Given the description of an element on the screen output the (x, y) to click on. 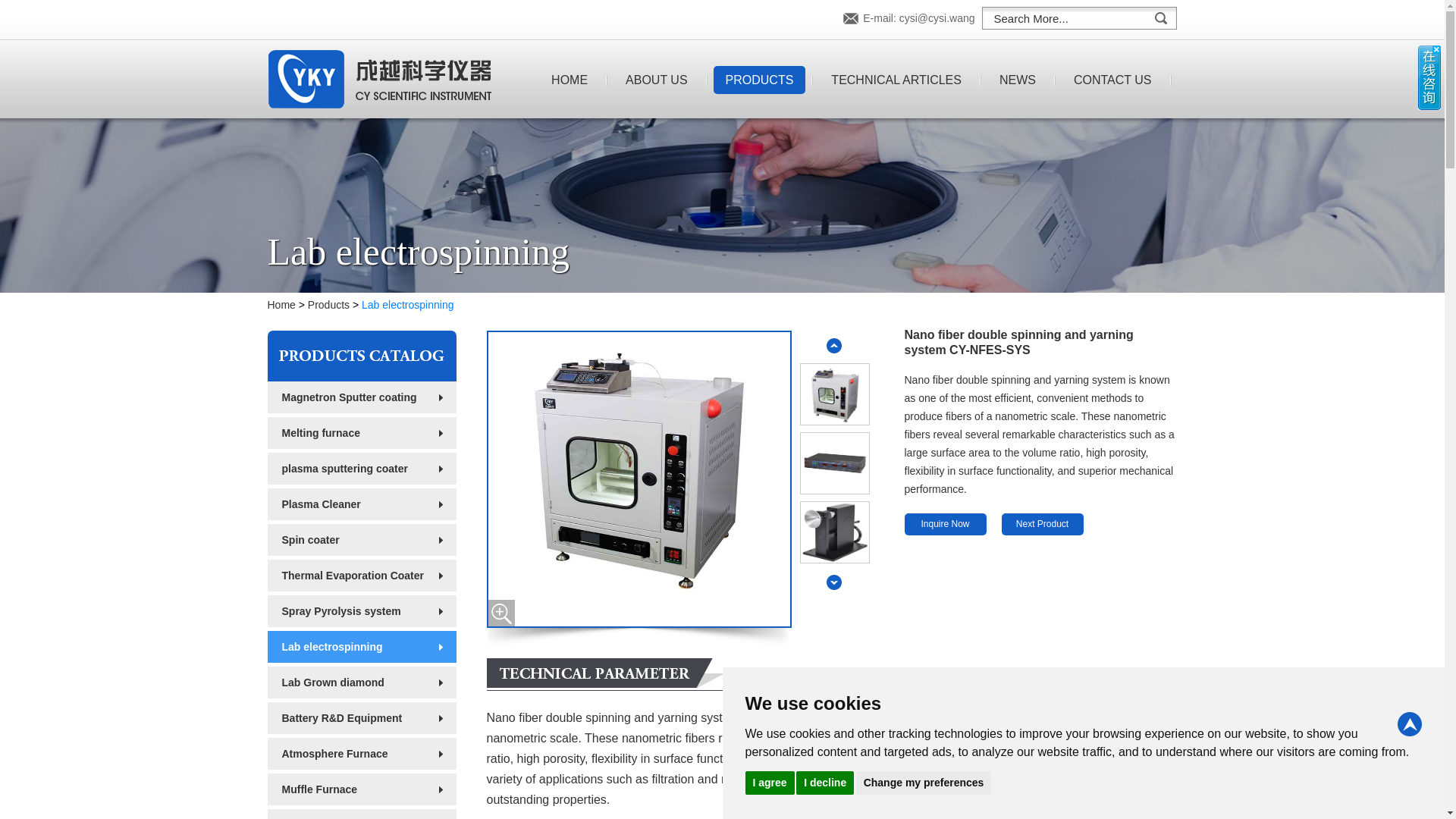
PRODUCTS (759, 80)
I agree (768, 781)
ABOUT US (656, 80)
I decline (824, 781)
HOME (568, 80)
Change my preferences (923, 781)
Nano fiber double spinning and yarning system CY-NFES-SYS (834, 463)
 Zhengzhou CY Scientific Instrument Co., Ltd (379, 79)
Search More... (1068, 18)
Nano fiber double spinning and yarning system CY-NFES-SYS (834, 394)
 Zhengzhou CY Scientific Instrument Co., Ltd (379, 78)
Nano fiber double spinning and yarning system CY-NFES-SYS (834, 532)
